Given the description of an element on the screen output the (x, y) to click on. 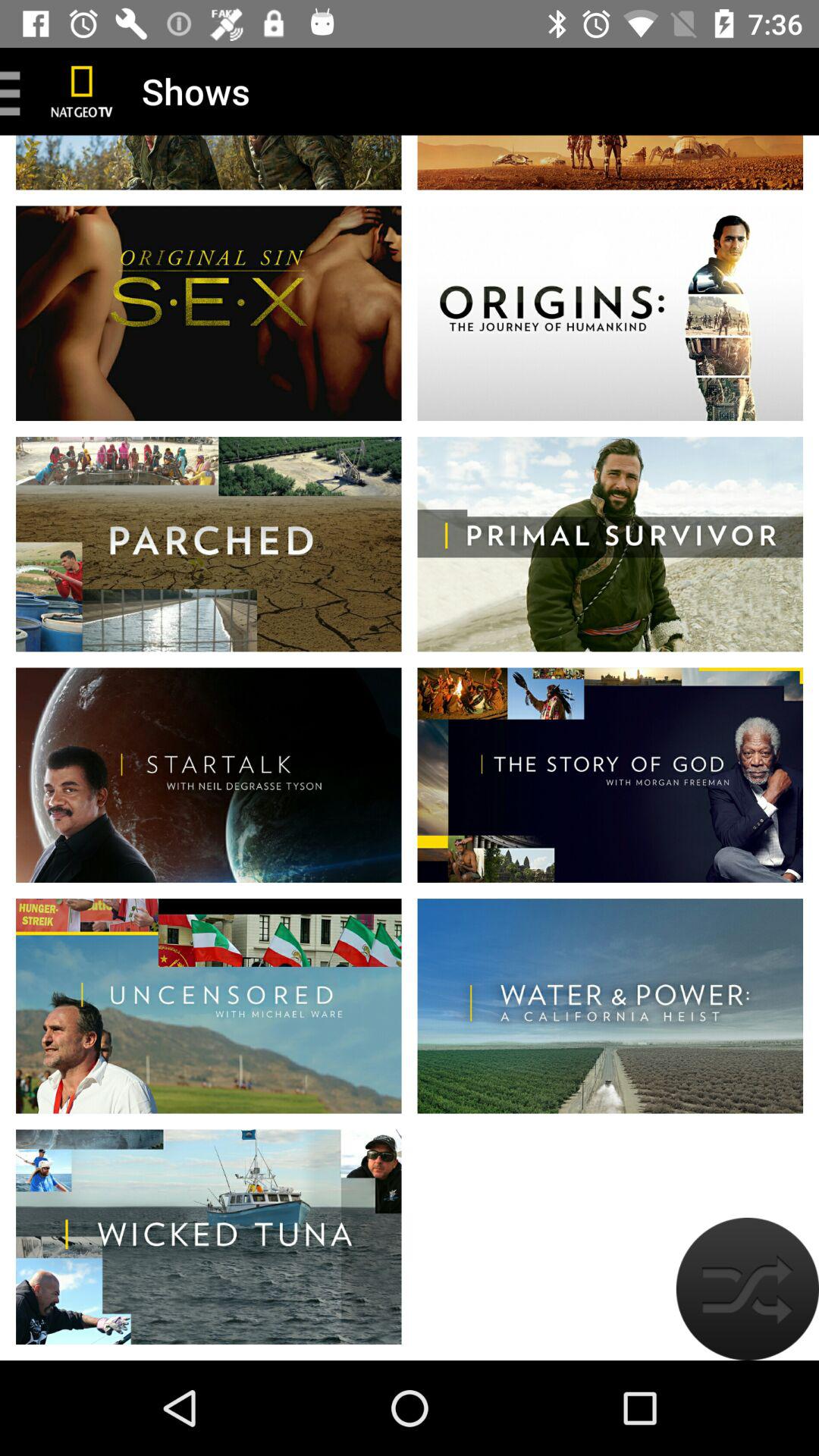
open menu (15, 91)
